Given the description of an element on the screen output the (x, y) to click on. 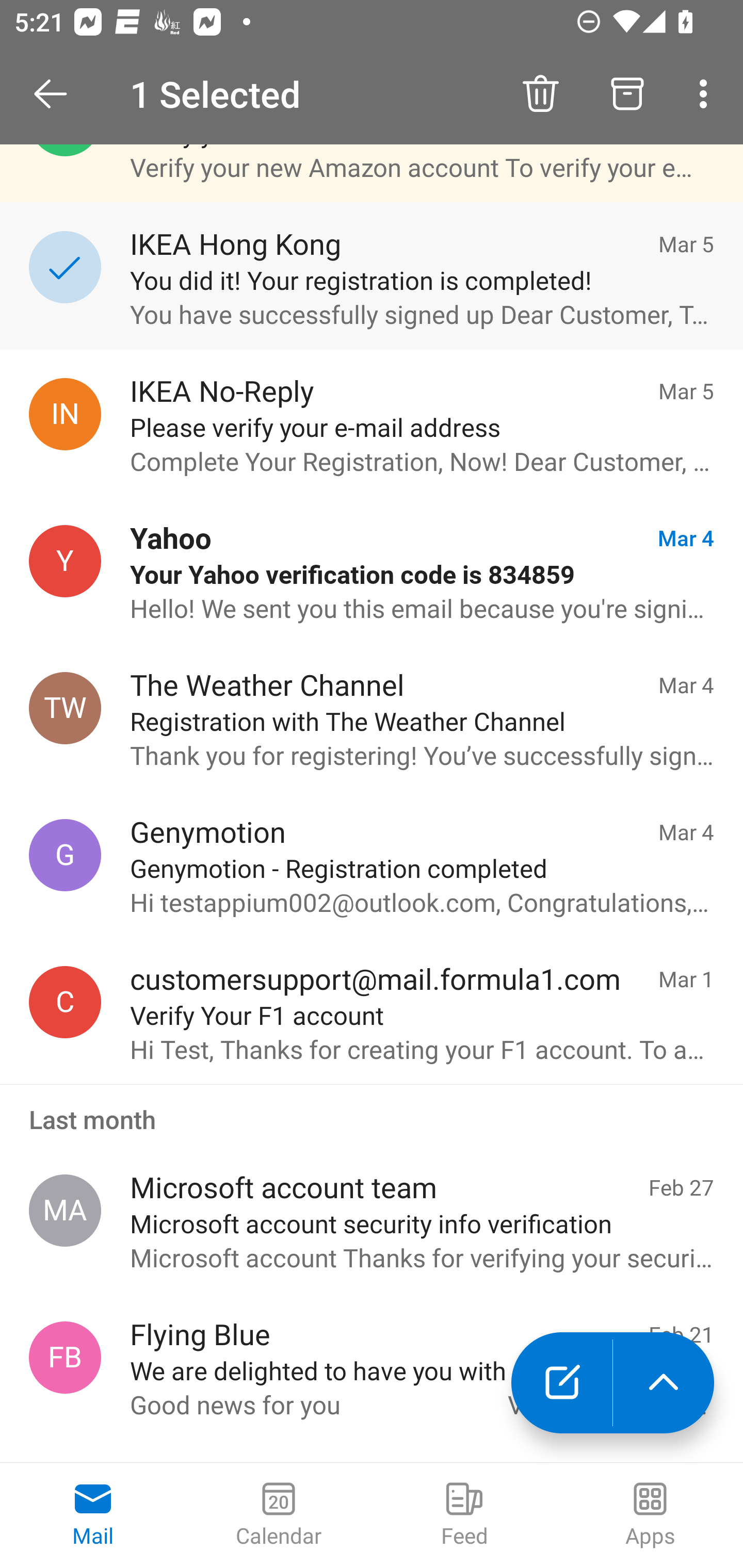
Delete (540, 93)
Archive (626, 93)
More options (706, 93)
Open Navigation Drawer (57, 94)
IKEA No-Reply, noreply@ikea.com.hk (64, 413)
Yahoo, no-reply@cc.yahoo-inc.com (64, 561)
The Weather Channel, noreply@weather.com (64, 708)
Genymotion, genymotion-activation@genymobile.com (64, 854)
Flying Blue, do_not_reply@info-flyingblue.com (64, 1357)
New mail (561, 1382)
launch the extended action menu (663, 1382)
Calendar (278, 1515)
Feed (464, 1515)
Apps (650, 1515)
